Given the description of an element on the screen output the (x, y) to click on. 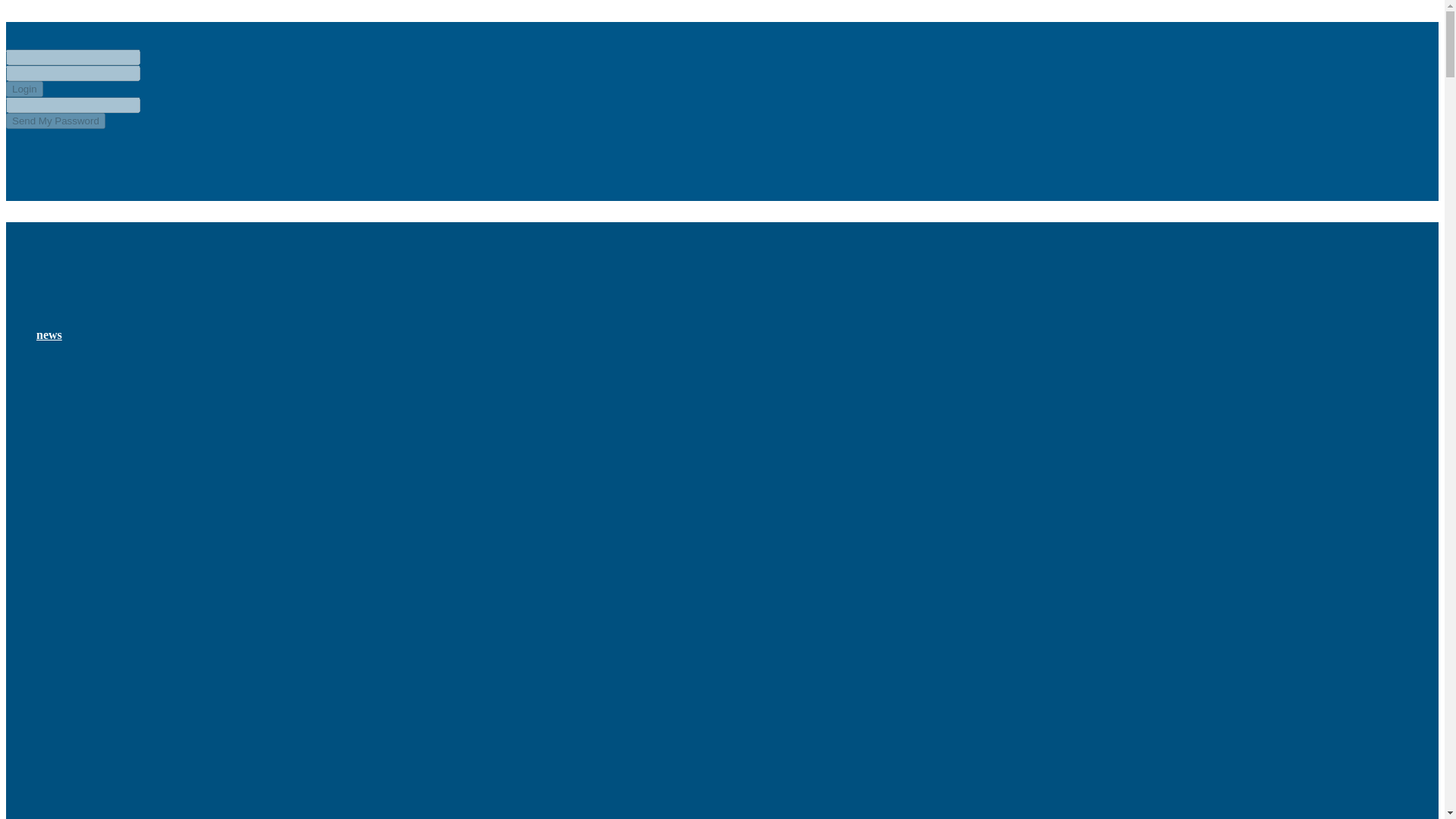
Apzo Media (129, 257)
Misty Severi: US News Reporter at Washington Journalist 2024 (148, 405)
Apzo Media (129, 164)
Login (24, 89)
Send My Password (54, 120)
